Given the description of an element on the screen output the (x, y) to click on. 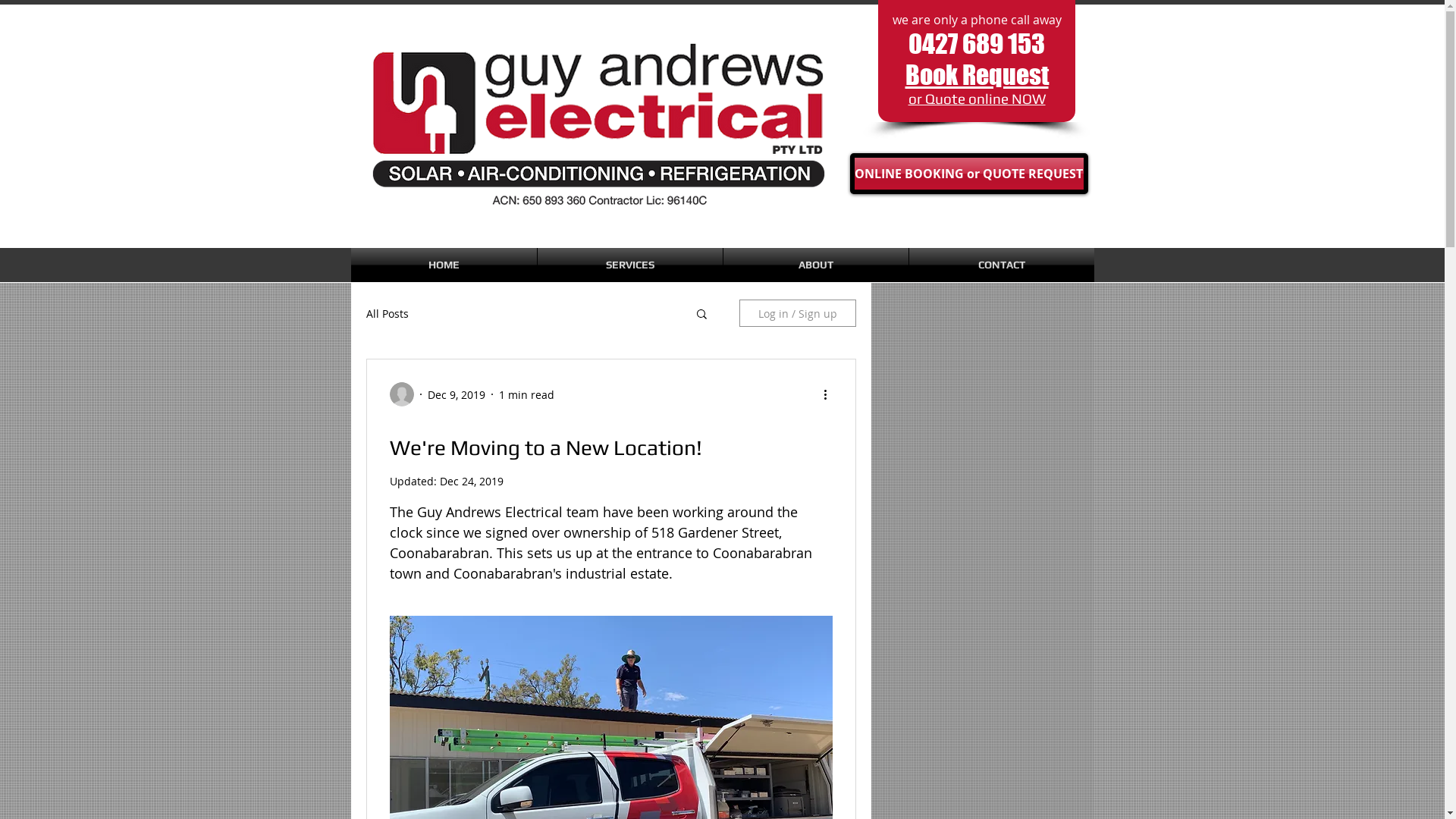
HOME Element type: text (443, 264)
SERVICES Element type: text (628, 264)
Book Request Element type: text (976, 74)
ABOUT Element type: text (815, 264)
CONTACT Element type: text (1000, 264)
Log in / Sign up Element type: text (796, 312)
or Quote online NOW Element type: text (976, 98)
All Posts Element type: text (386, 313)
ONLINE BOOKING or QUOTE REQUEST Element type: text (968, 173)
